Given the description of an element on the screen output the (x, y) to click on. 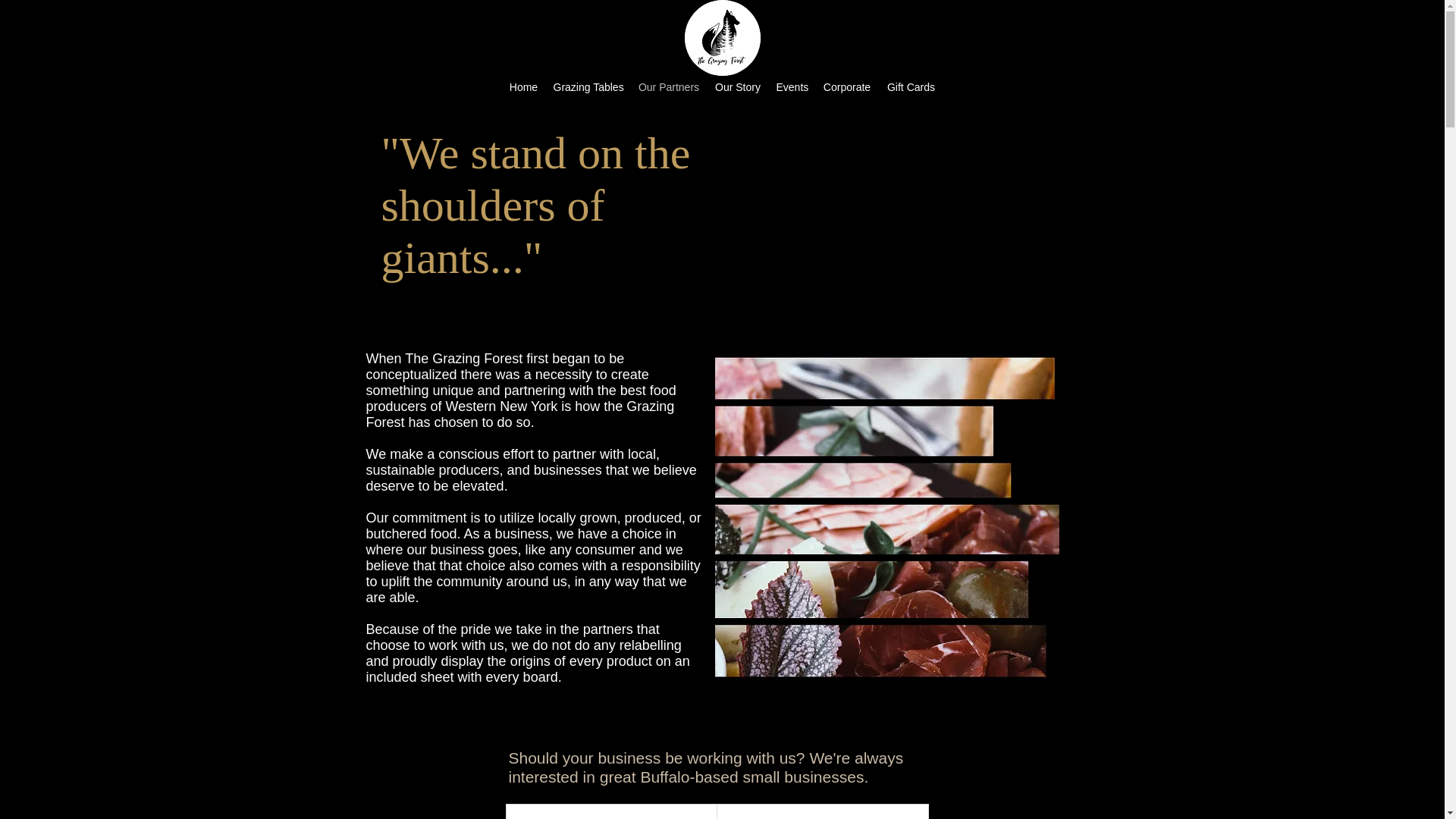
Corporate (846, 87)
Events (791, 87)
Home (524, 87)
Grazing Tables (588, 87)
Our Story (737, 87)
Gift Cards (911, 87)
Our Partners (668, 87)
